Given the description of an element on the screen output the (x, y) to click on. 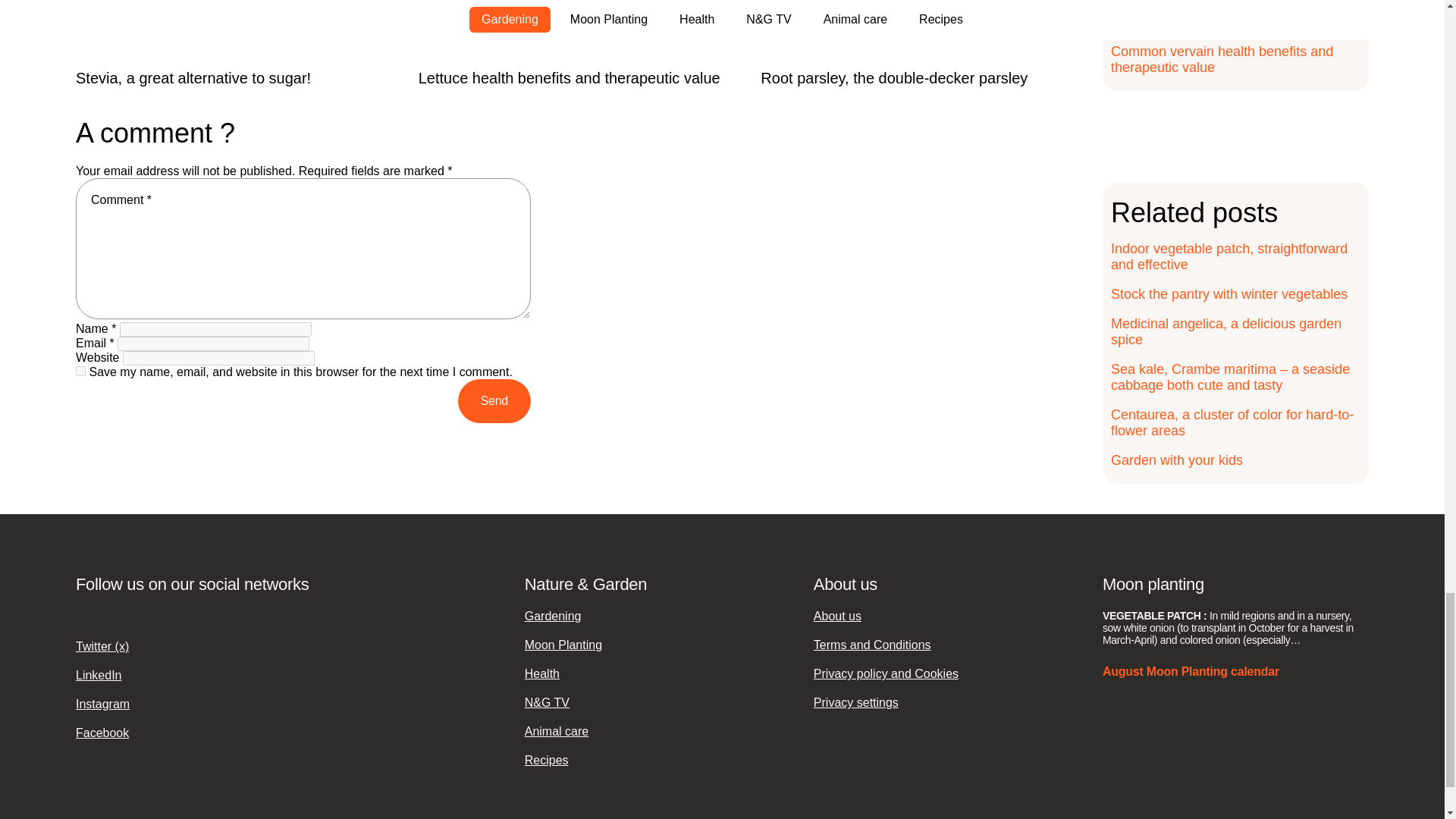
yes (80, 370)
